Given the description of an element on the screen output the (x, y) to click on. 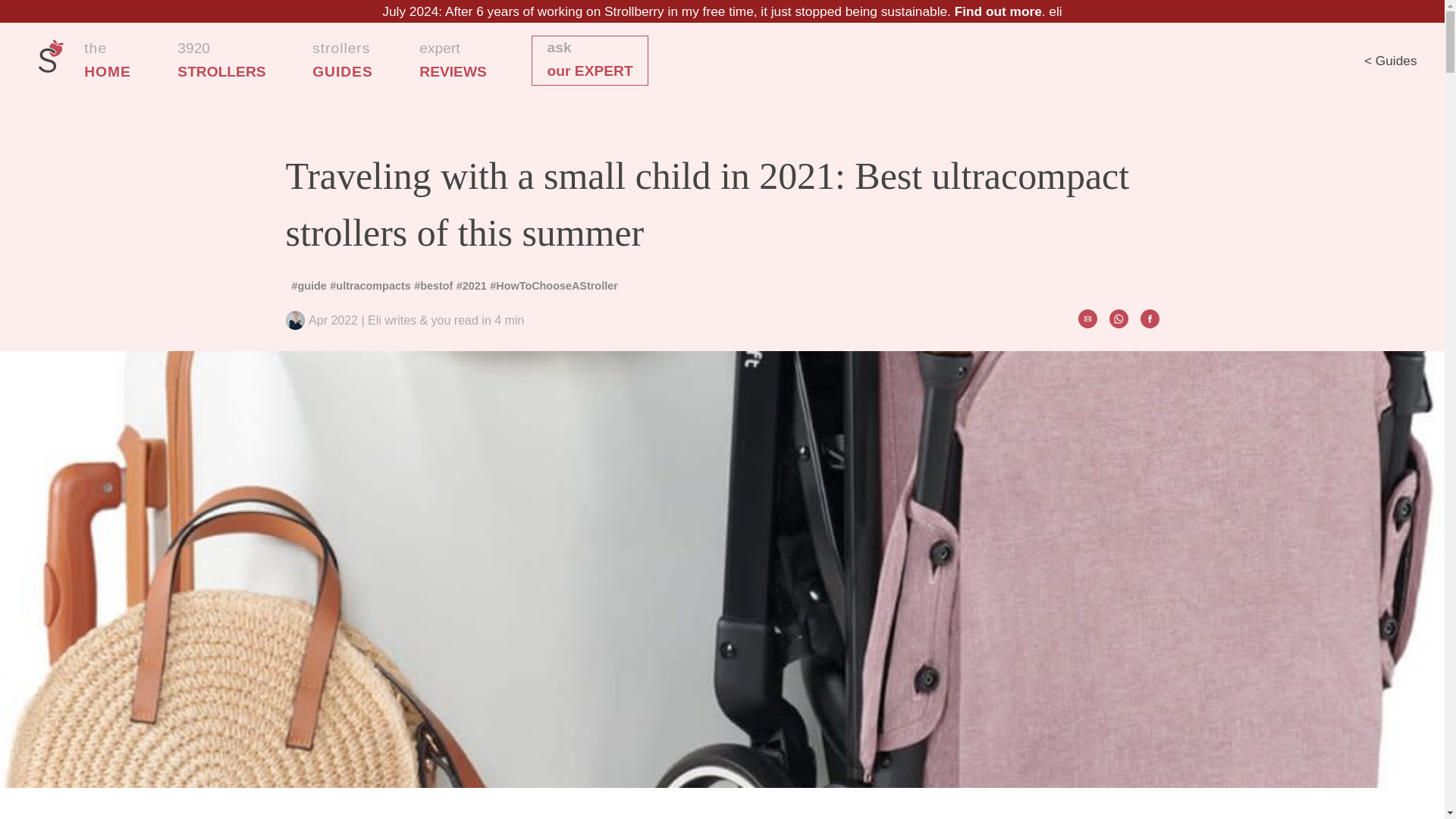
Find out more (998, 11)
